Given the description of an element on the screen output the (x, y) to click on. 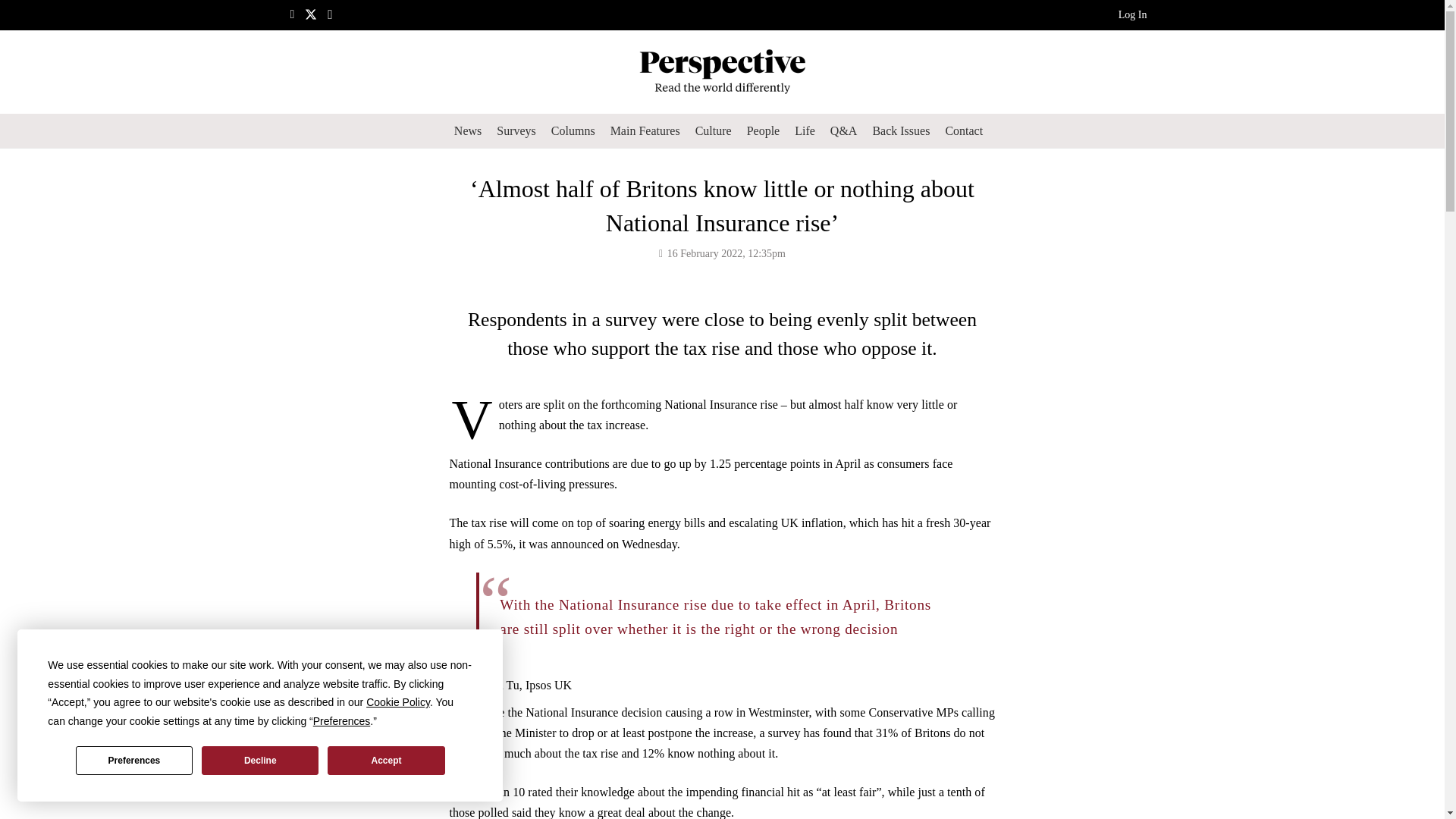
Accept (385, 759)
People (763, 130)
Culture (713, 130)
Main Features (644, 130)
News (467, 130)
Contact (963, 130)
Life (804, 130)
Columns (572, 130)
Decline (260, 759)
Twitter (310, 14)
Surveys (516, 130)
Log In (1132, 17)
Back Issues (900, 130)
Preferences (133, 759)
